Given the description of an element on the screen output the (x, y) to click on. 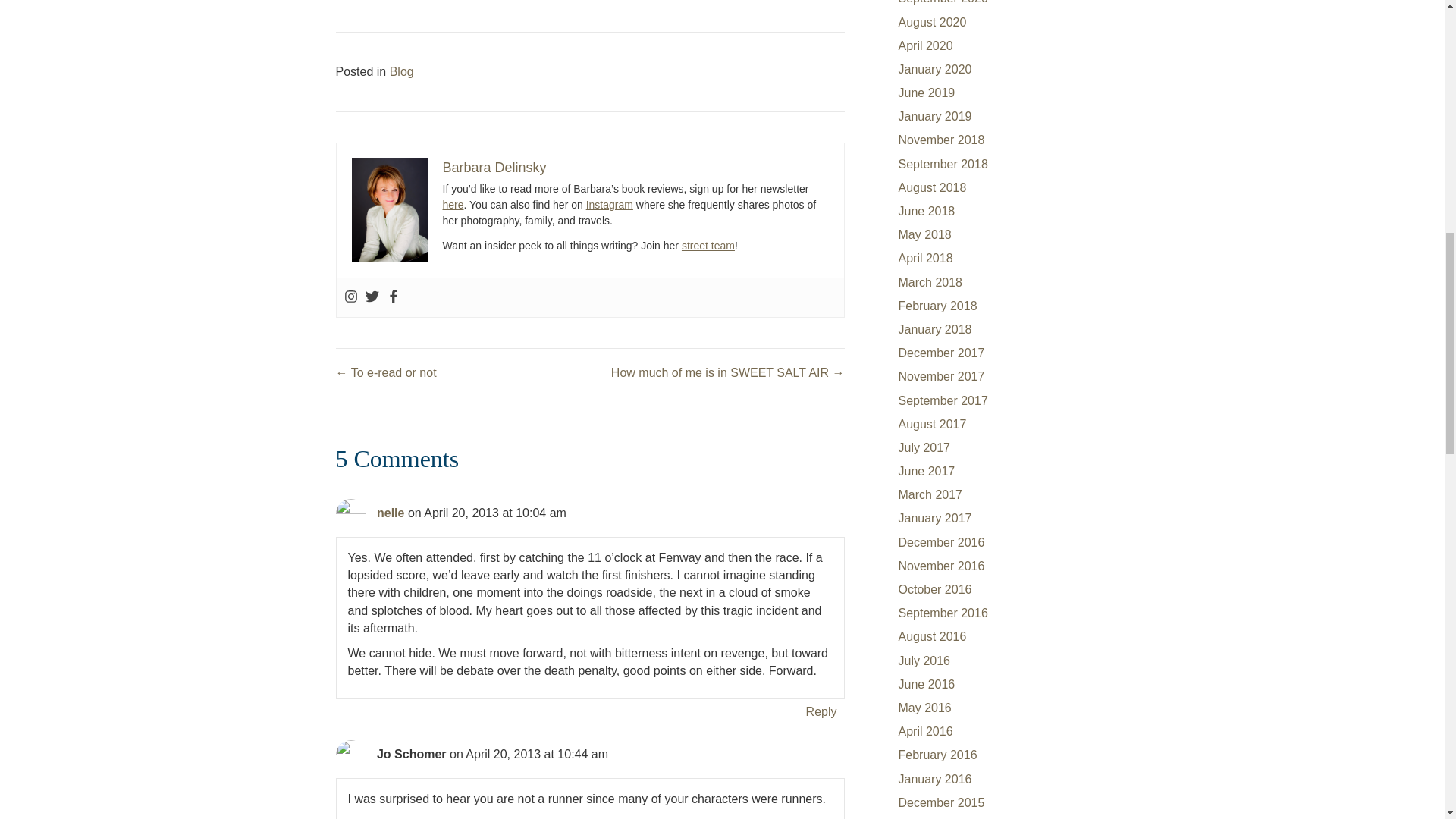
Reply (821, 711)
Blog (401, 71)
street team (708, 245)
nelle (390, 512)
Barbara Delinsky (494, 167)
here (453, 204)
Instagram (609, 204)
